Given the description of an element on the screen output the (x, y) to click on. 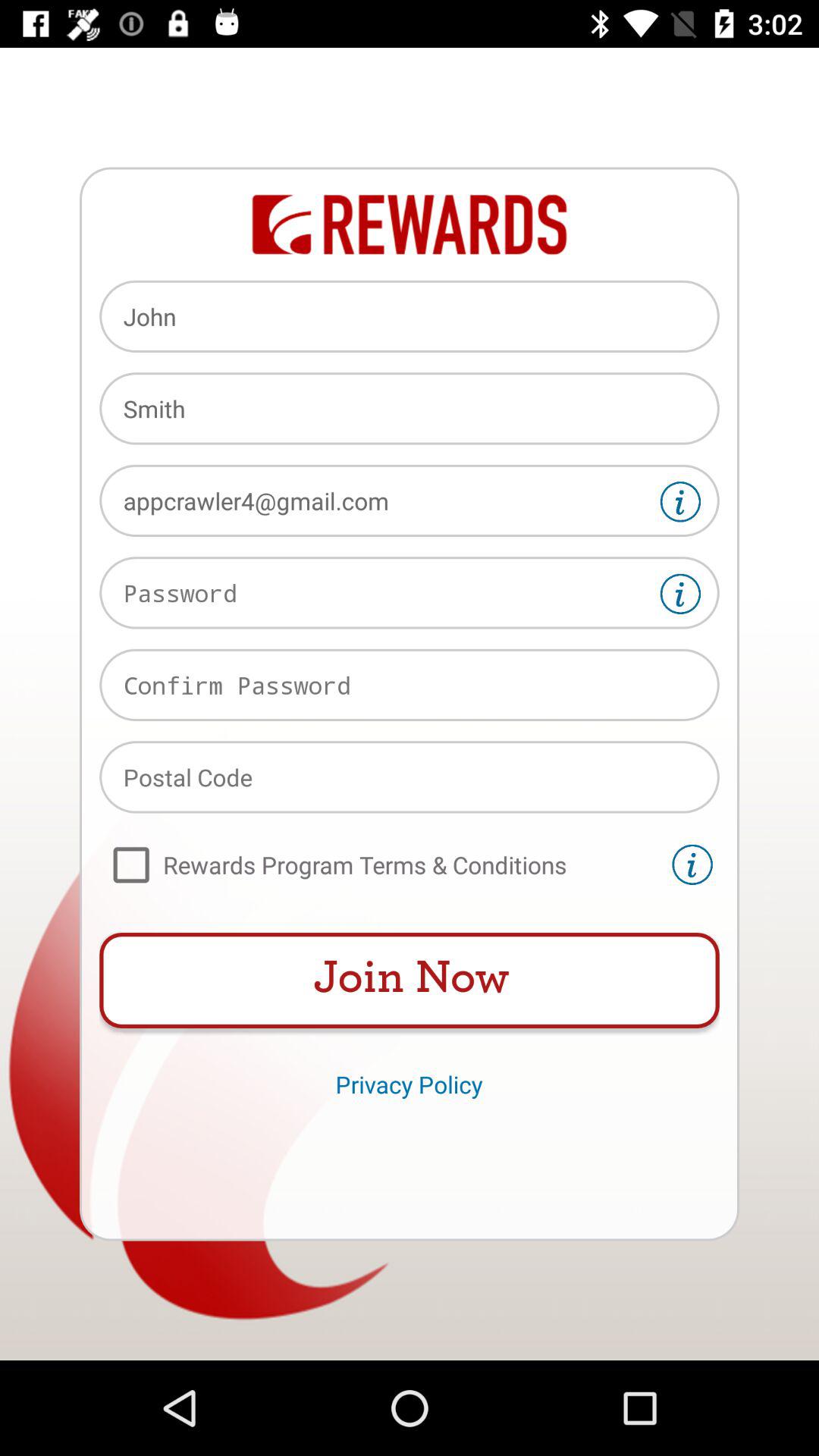
scroll until appcrawler4@gmail.com icon (409, 500)
